Given the description of an element on the screen output the (x, y) to click on. 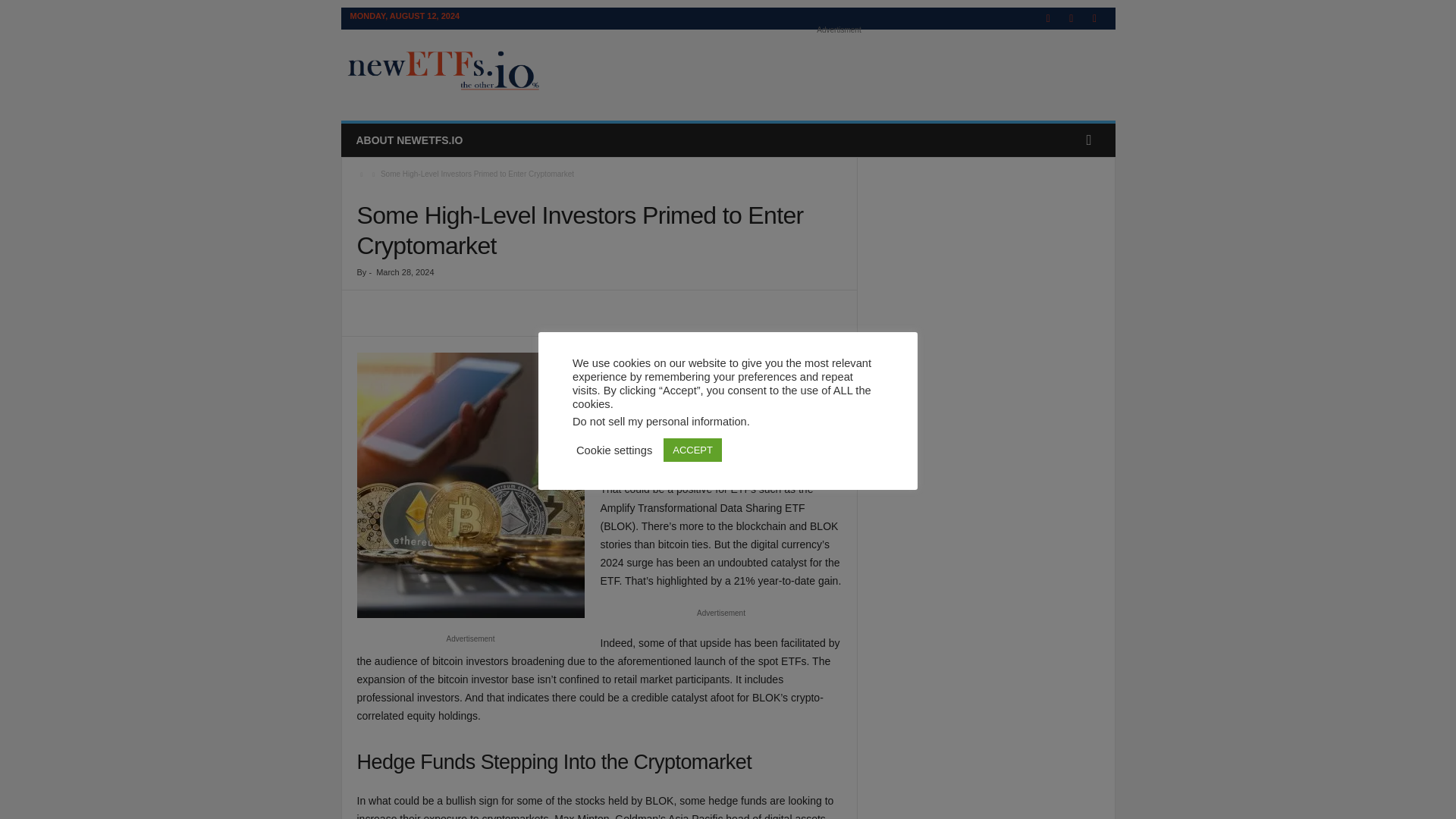
ABOUT NEWETFS.IO (408, 140)
newETFs.io (443, 70)
NewETFs.io (443, 70)
